Given the description of an element on the screen output the (x, y) to click on. 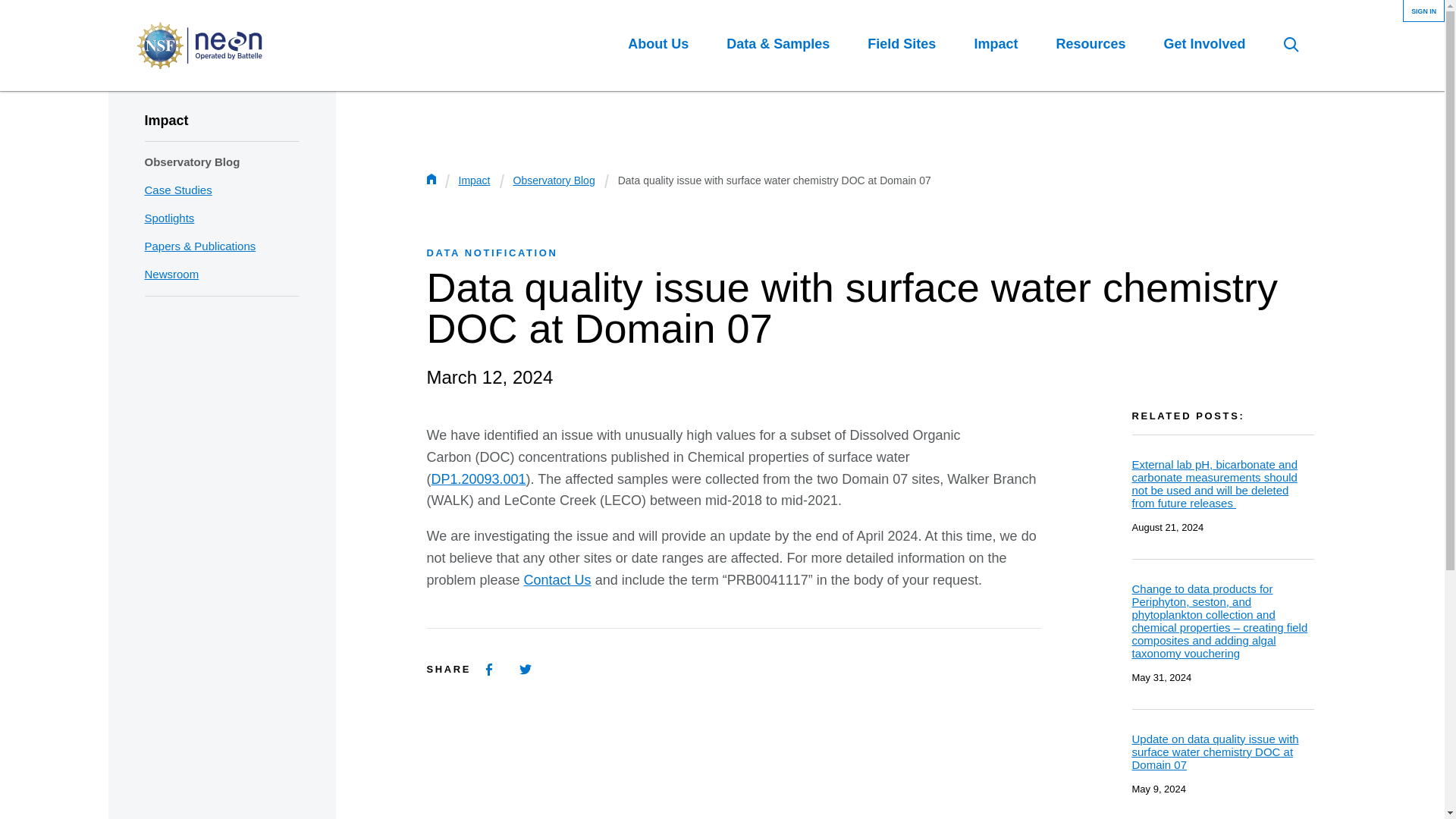
Impact (995, 43)
Home (198, 45)
Search (1290, 43)
About Us (657, 43)
Sign In (1423, 11)
Sign In (1423, 11)
Impact (165, 120)
About Us (657, 43)
Sign In (1423, 11)
